Given the description of an element on the screen output the (x, y) to click on. 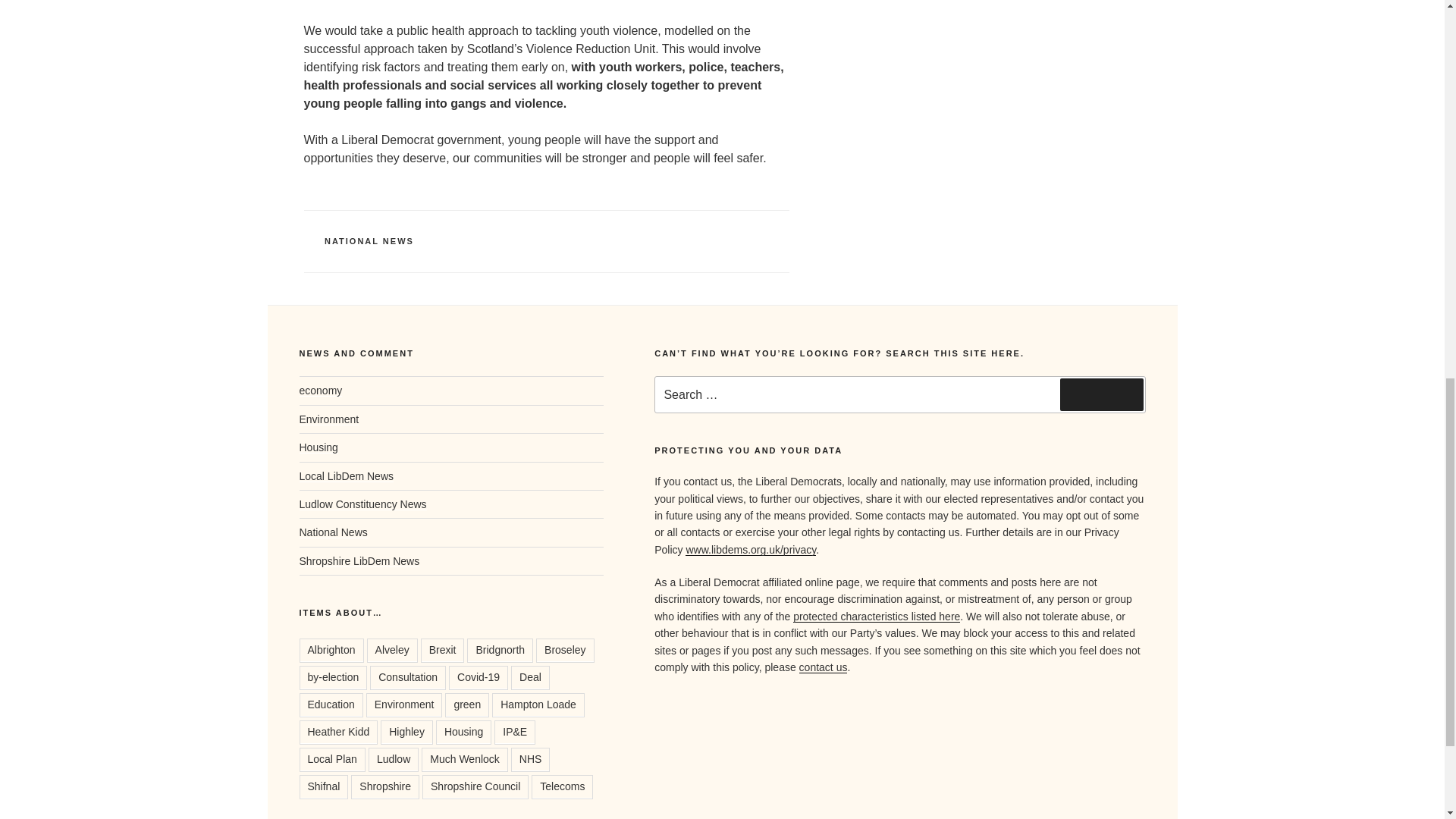
Shropshire LibDem News (358, 561)
by-election (332, 677)
Brexit (442, 650)
Ludlow Constituency News (362, 503)
Alveley (391, 650)
Consultation (407, 677)
Bridgnorth (499, 650)
NATIONAL NEWS (368, 240)
Environment (328, 419)
economy (320, 390)
